Given the description of an element on the screen output the (x, y) to click on. 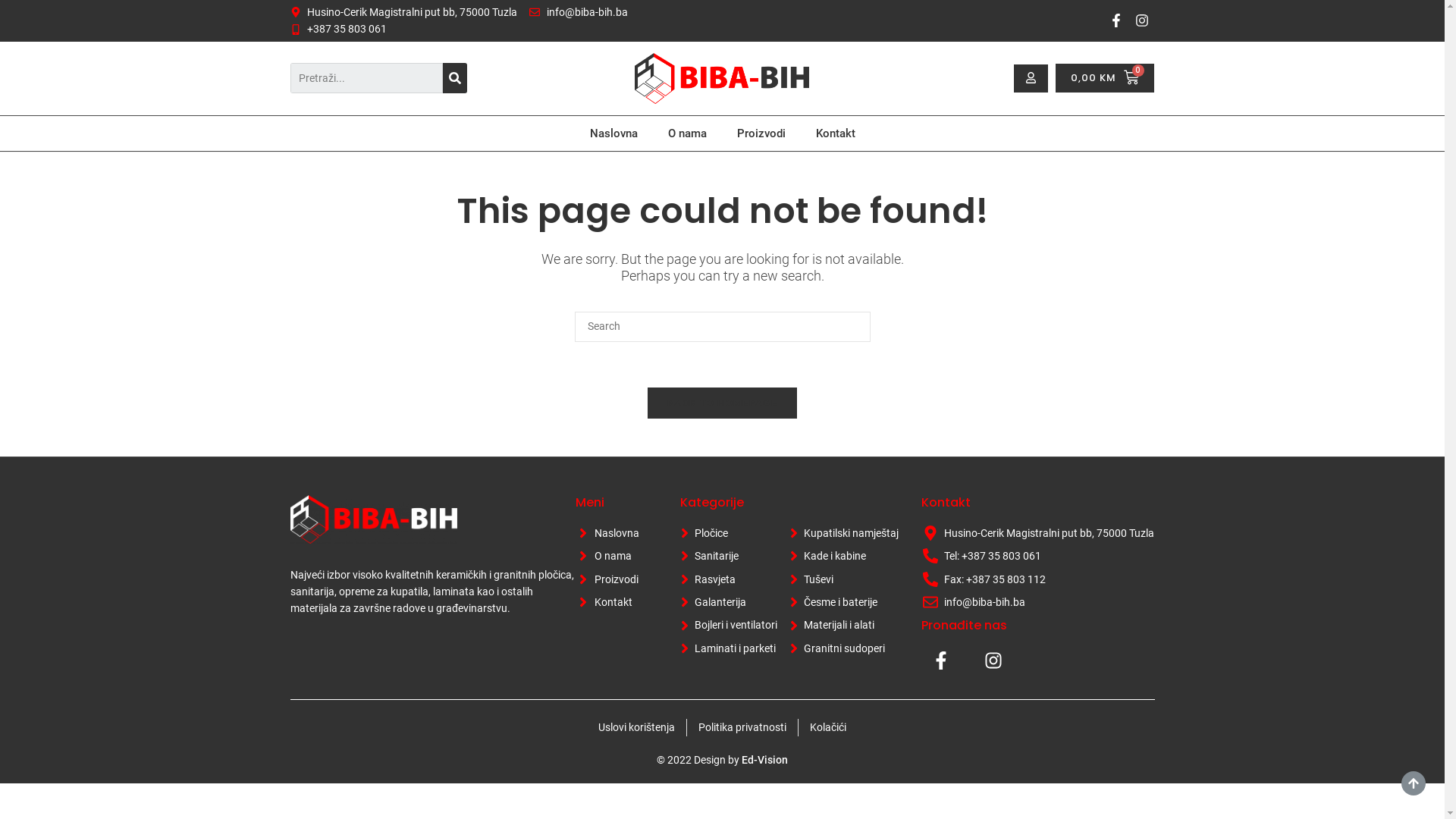
Laminati i parketi Element type: text (726, 648)
Kontakt Element type: text (614, 601)
BACK TO HOMEPAGE Element type: text (722, 402)
Rasvjeta Element type: text (726, 579)
Politika privatnosti Element type: text (742, 726)
Granitni sudoperi Element type: text (841, 648)
Naslovna Element type: text (613, 133)
Naslovna Element type: text (614, 532)
Proizvodi Element type: text (760, 133)
Sanitarije Element type: text (726, 555)
Bojleri i ventilatori Element type: text (726, 624)
Galanterija Element type: text (726, 601)
Materijali i alati Element type: text (841, 624)
Kontakt Element type: text (835, 133)
0,00 KM Element type: text (1104, 77)
Ed-Vision Element type: text (764, 759)
O nama Element type: text (686, 133)
O nama Element type: text (614, 555)
Search Element type: hover (365, 77)
Proizvodi Element type: text (614, 579)
Kade i kabine Element type: text (841, 555)
Search Element type: hover (454, 77)
